Given the description of an element on the screen output the (x, y) to click on. 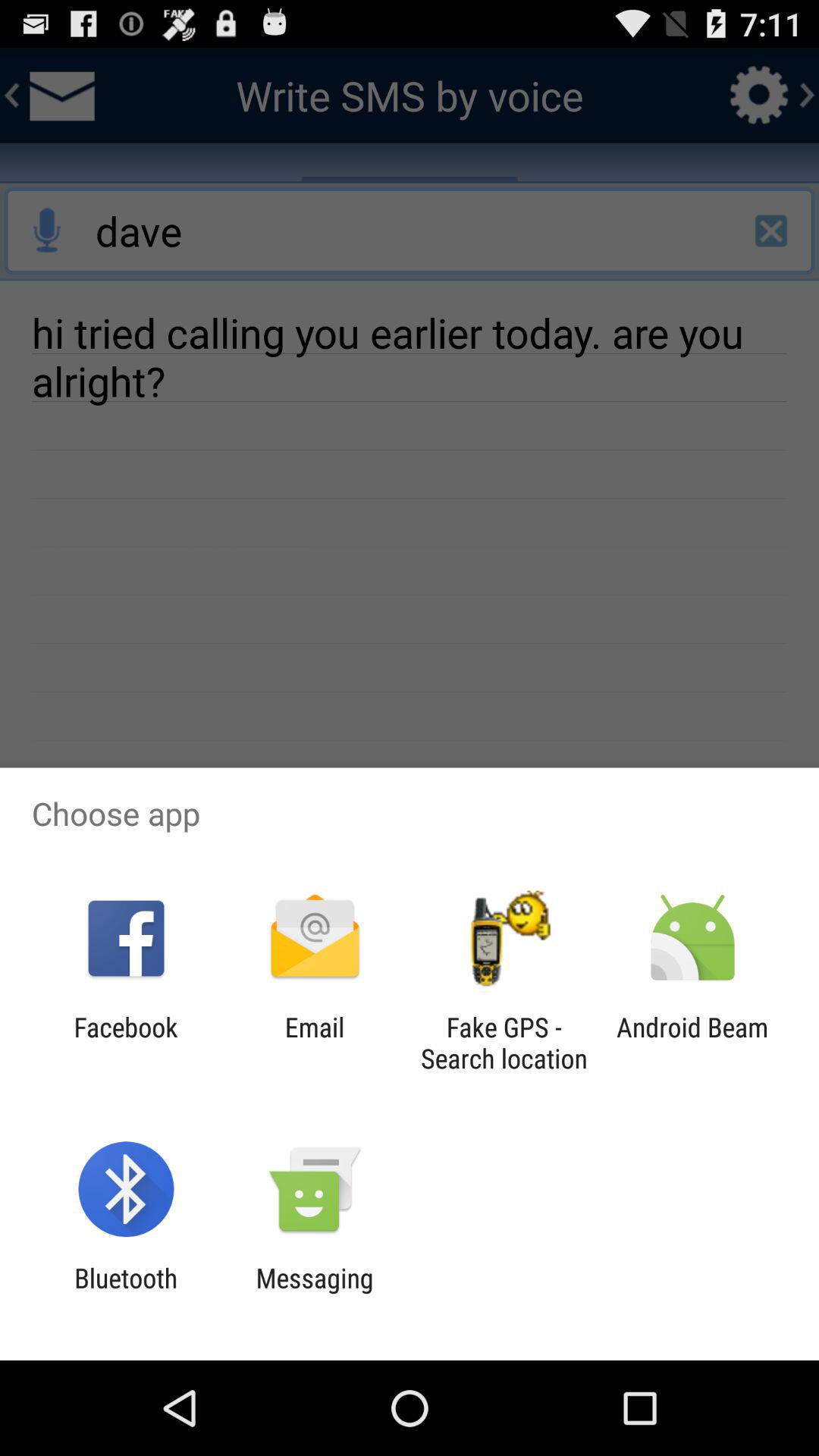
click the item to the right of email app (503, 1042)
